Given the description of an element on the screen output the (x, y) to click on. 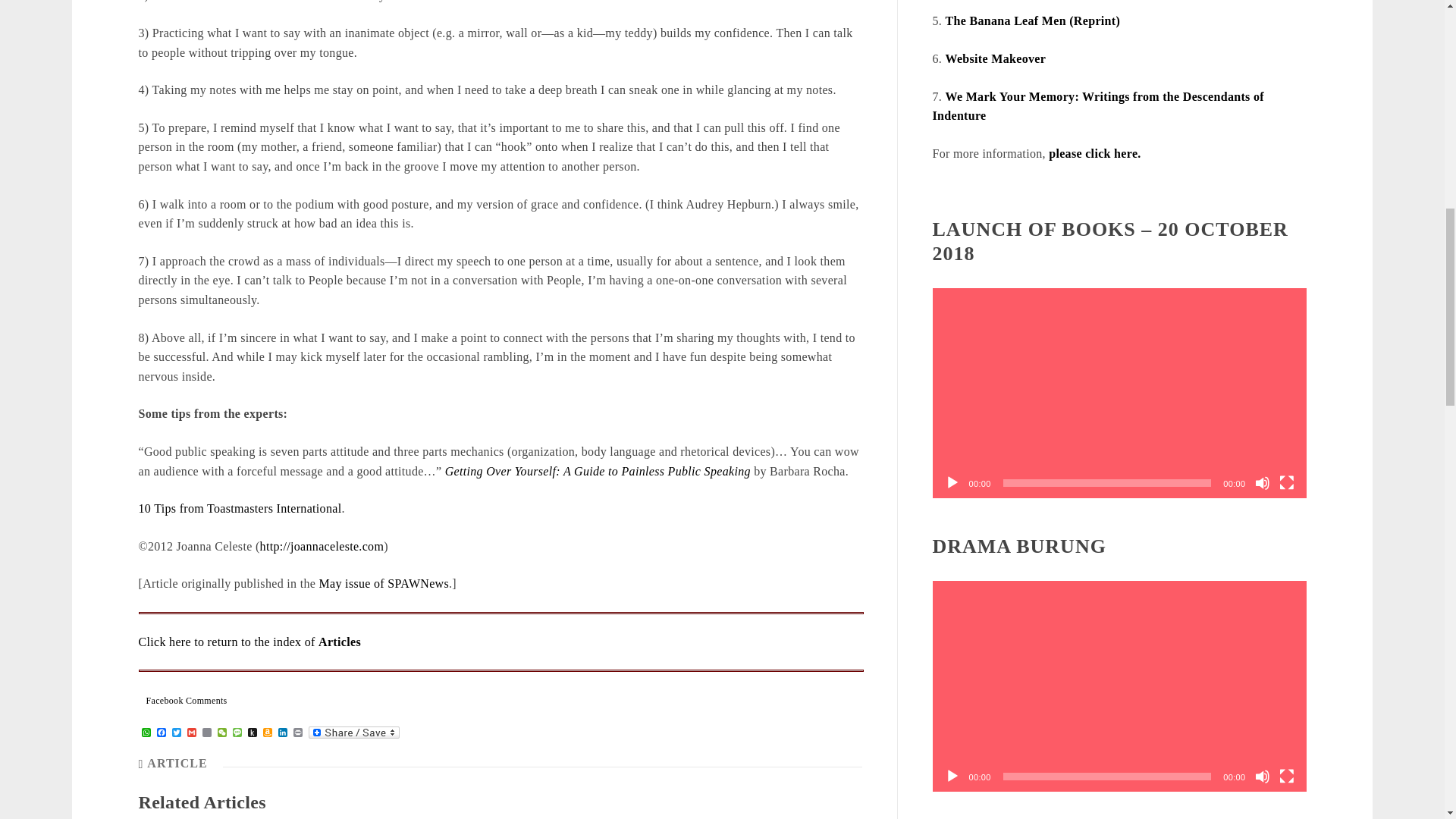
May issue of SPAWNews (383, 583)
Getting Over Yourself: A Guide to Painless Public Speaking (599, 470)
LinkedIn (282, 732)
Push to Kindle (251, 732)
Email (206, 732)
Facebook (160, 732)
Gmail (190, 732)
Amazon Wish List (267, 732)
WhatsApp (145, 732)
Message (236, 732)
WeChat (221, 732)
10 Tips from Toastmasters International (239, 508)
Click here to return to the index of Articles (248, 641)
Twitter (175, 732)
